Given the description of an element on the screen output the (x, y) to click on. 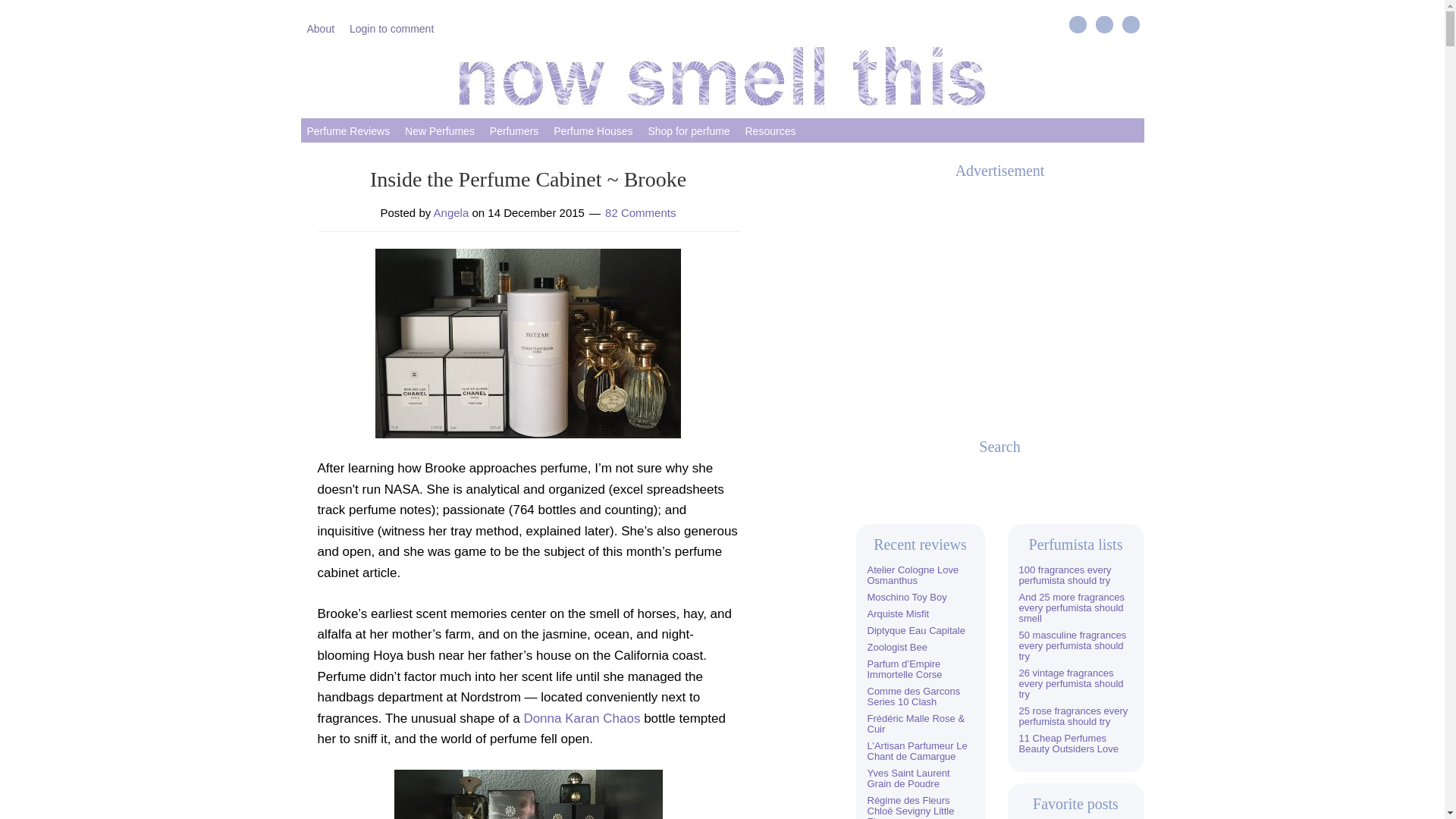
About (319, 27)
82 Comments (640, 212)
Donna Karan Chaos (581, 718)
Shop for perfume (688, 129)
Now Smell This (721, 75)
Perfumers (513, 129)
Angela (450, 212)
Perfume Reviews (347, 129)
Resources (770, 129)
Login to comment (391, 27)
Perfume Houses (593, 129)
New Perfumes (439, 129)
